Given the description of an element on the screen output the (x, y) to click on. 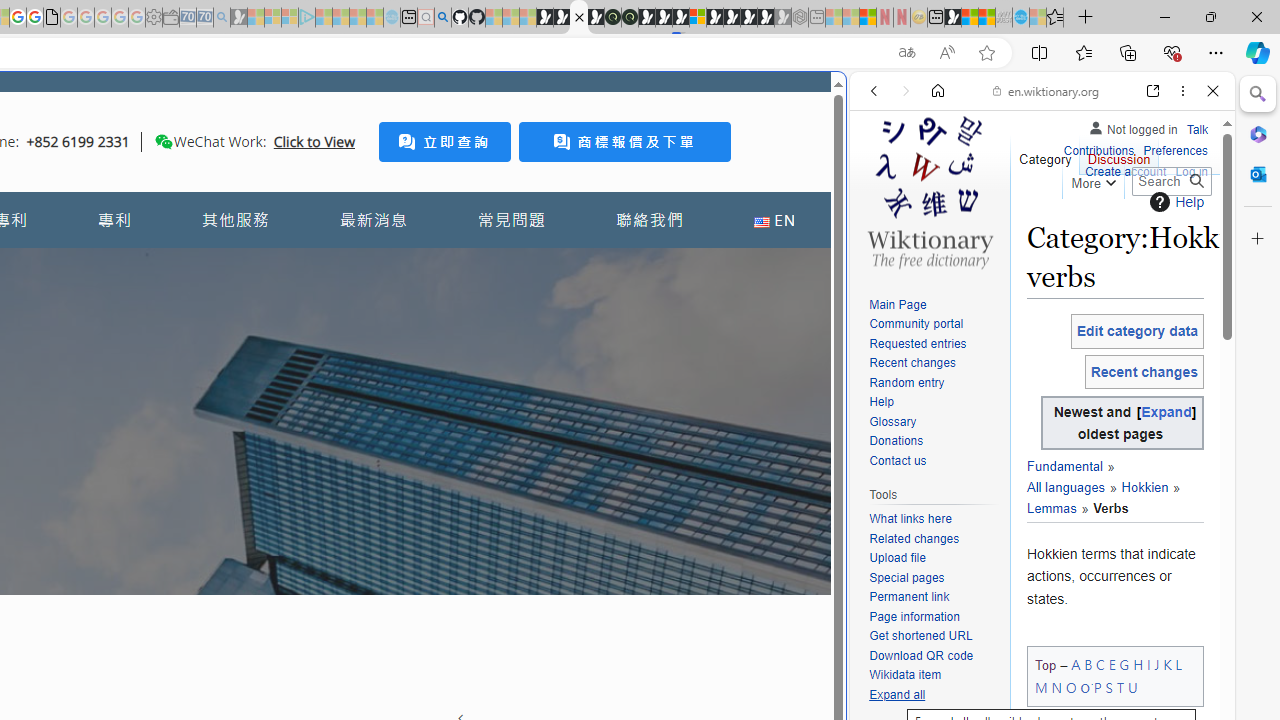
Search or enter web address (343, 191)
Special pages (934, 578)
Donations (934, 442)
Special pages (906, 577)
